Given the description of an element on the screen output the (x, y) to click on. 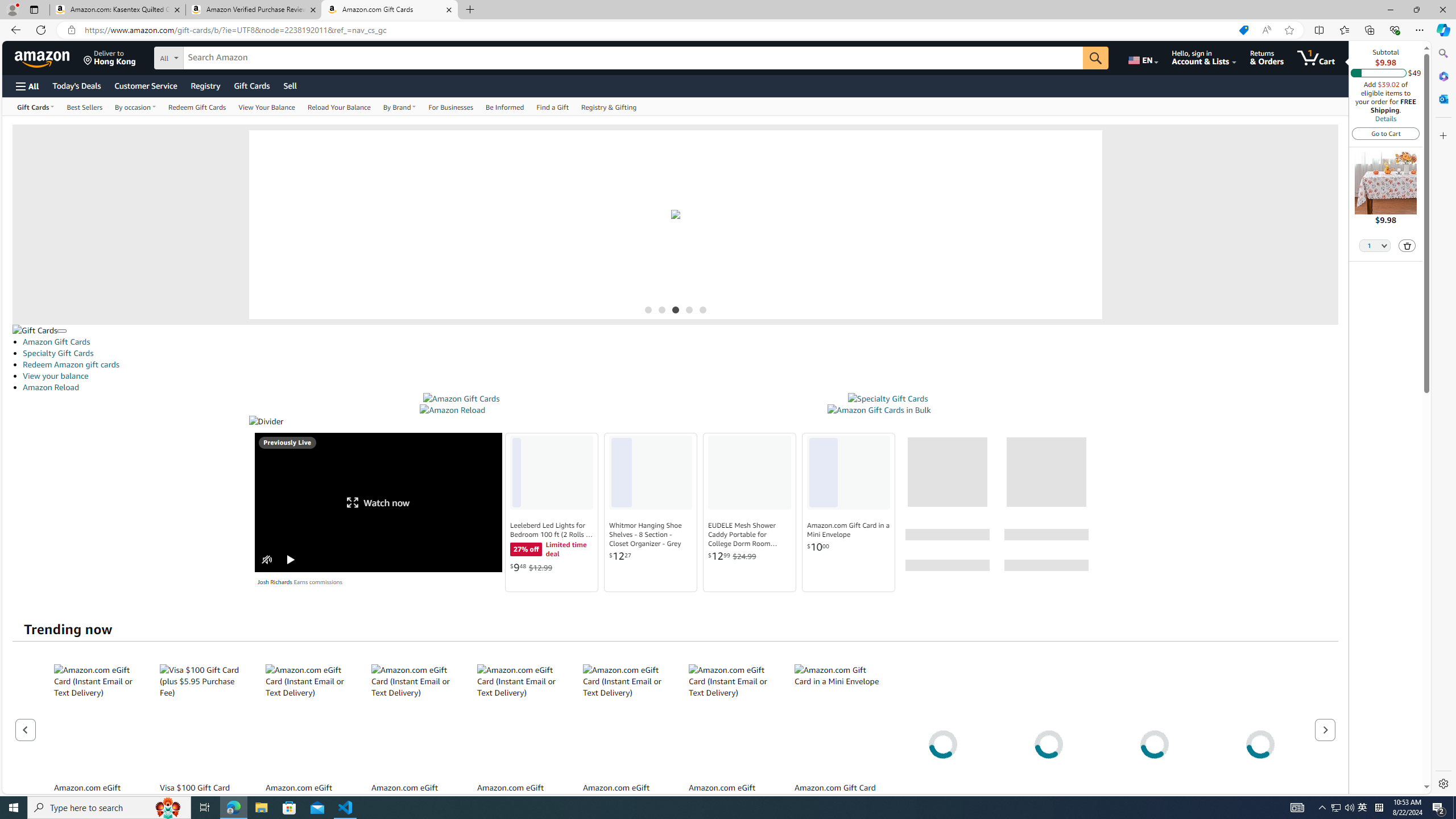
Amazon.com Gift Cards (390, 9)
Reload Your Balance (339, 106)
View Your Balance (266, 106)
1 item in cart (1315, 57)
Amazon Reload (680, 387)
Redeem Amazon gift cards (680, 364)
Amazon Reload (452, 410)
Go to Cart (1385, 133)
Quantity Selector (1374, 245)
Returns & Orders (1266, 57)
